Given the description of an element on the screen output the (x, y) to click on. 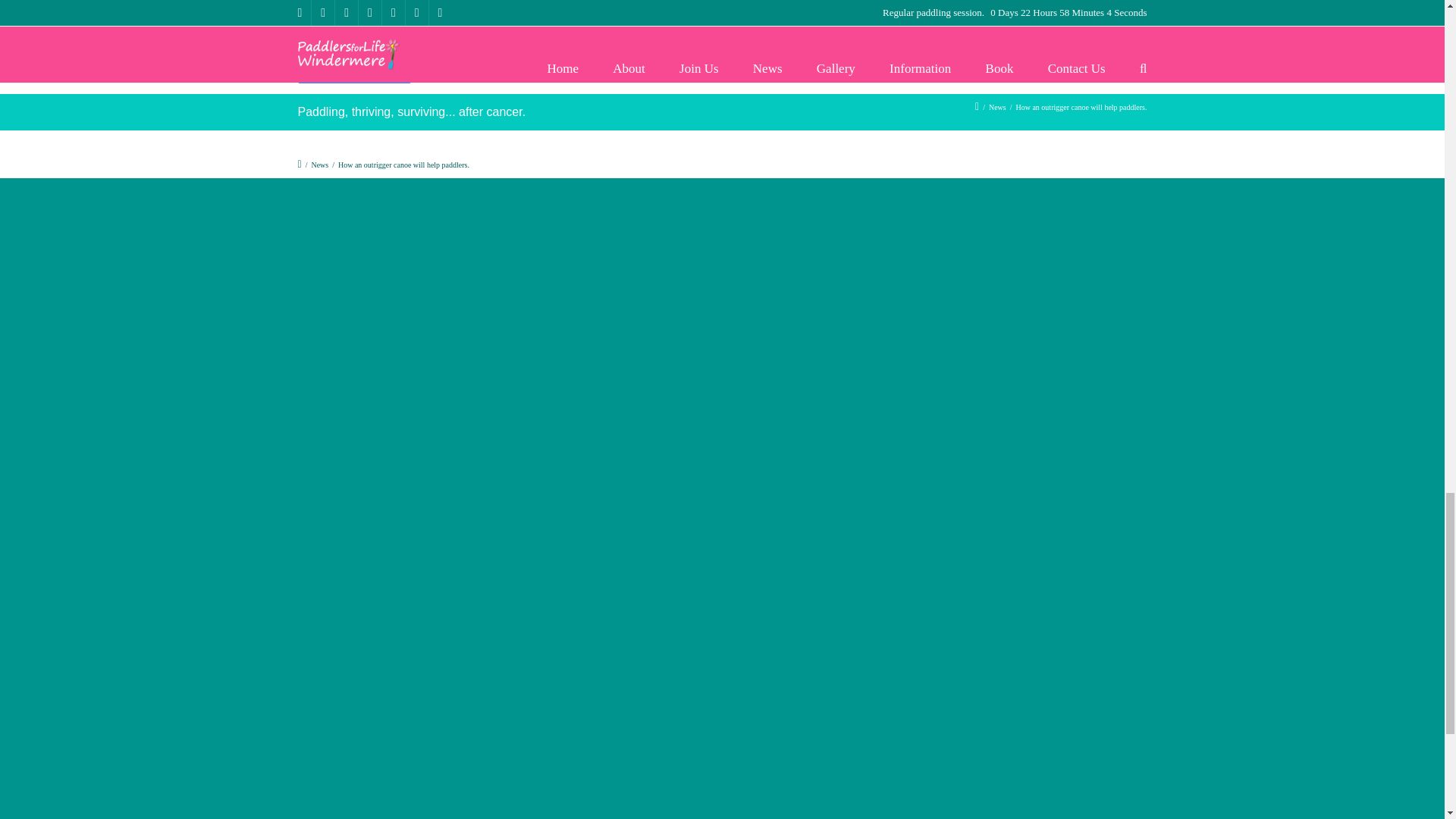
Send Message (353, 69)
